Given the description of an element on the screen output the (x, y) to click on. 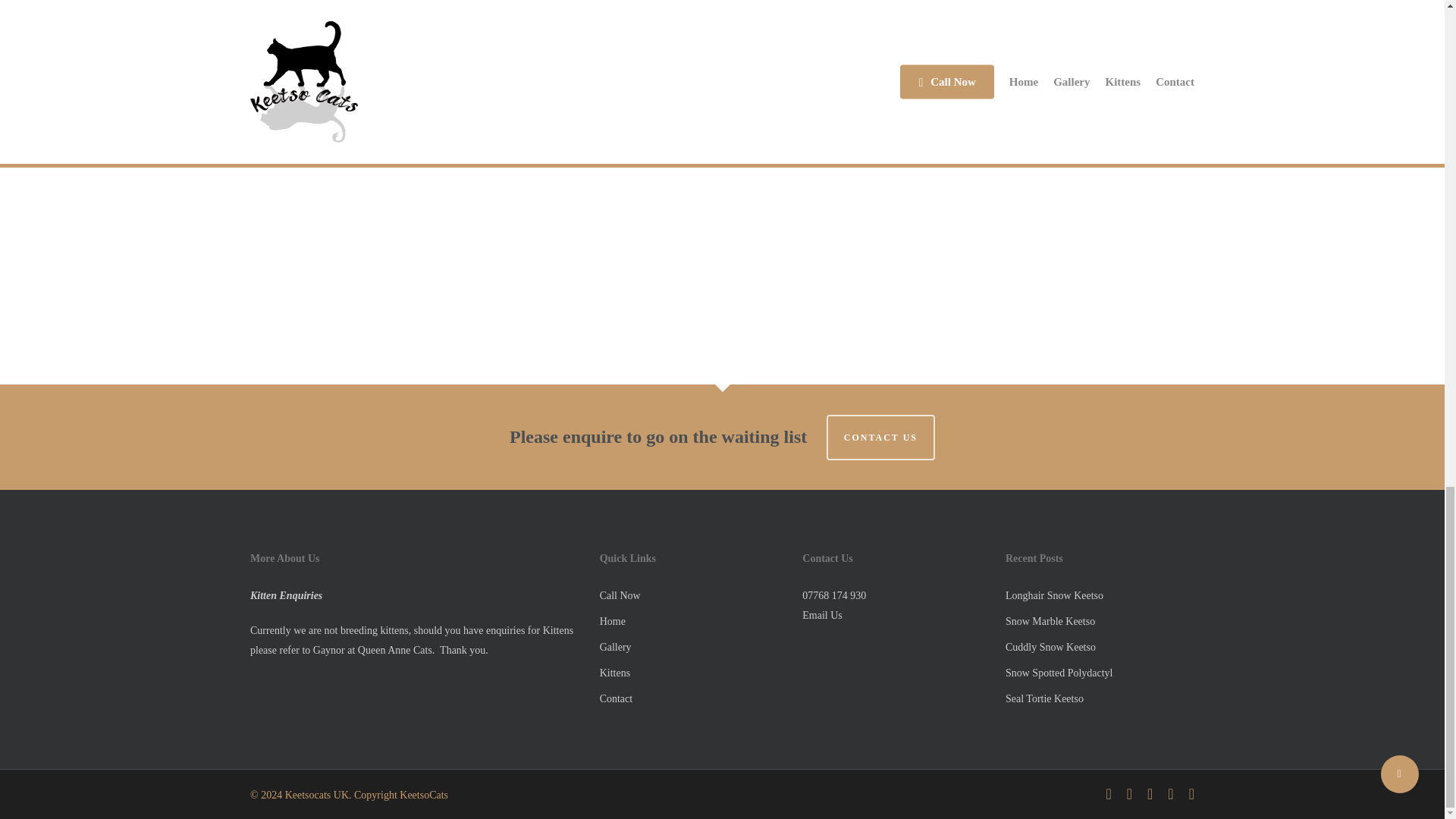
Gallery (615, 646)
Snow Marble Keetso (1050, 621)
Seal Tortie Keetso (1044, 698)
Cuddly Snow Keetso (1051, 646)
Snow Spotted Polydactyl (1059, 672)
Kittens (614, 672)
Contact (616, 698)
CONTACT US (880, 437)
Call Now (619, 595)
Longhair Snow Keetso (1054, 595)
